Given the description of an element on the screen output the (x, y) to click on. 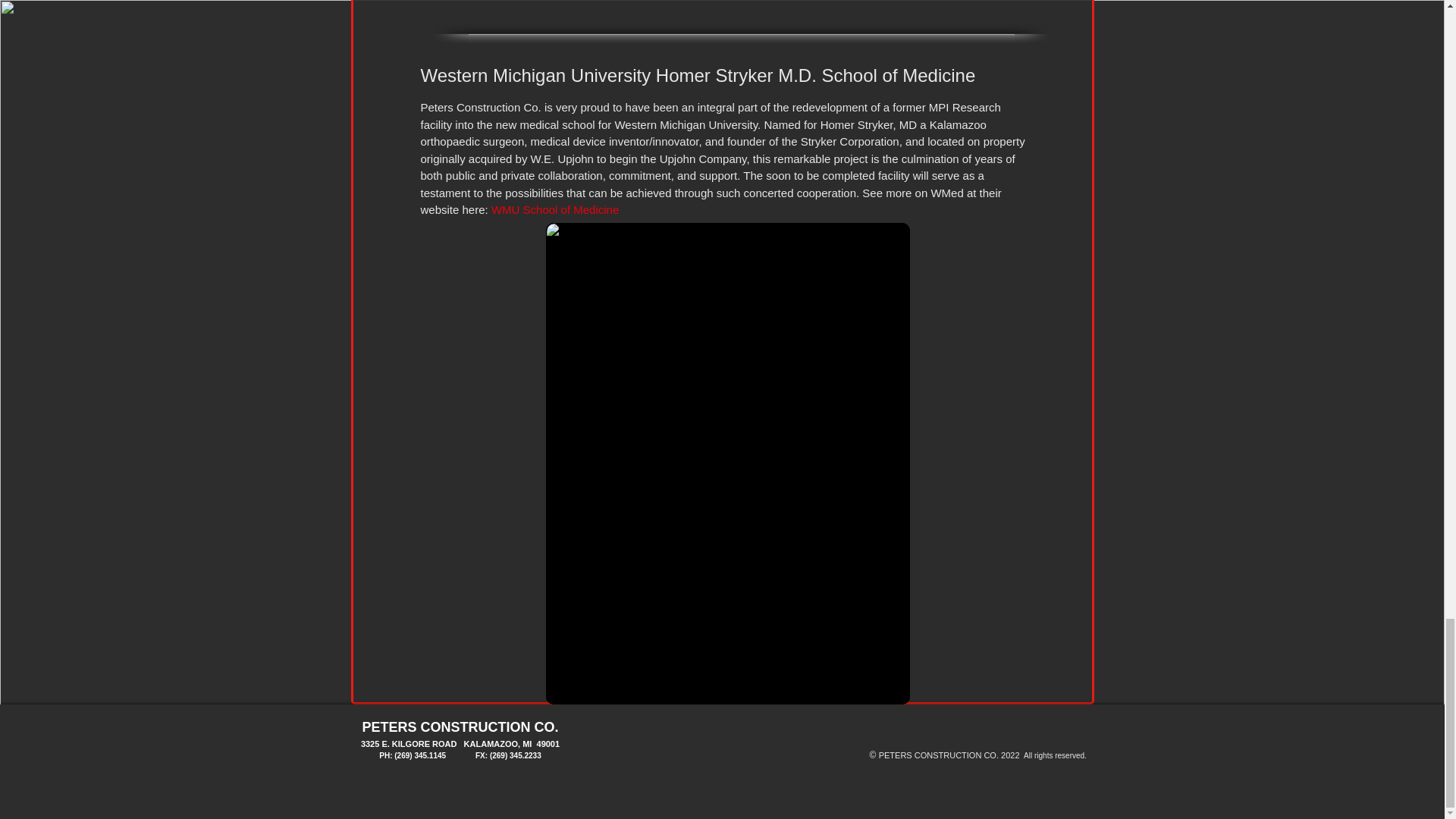
WMU School of Medicine (555, 209)
